Given the description of an element on the screen output the (x, y) to click on. 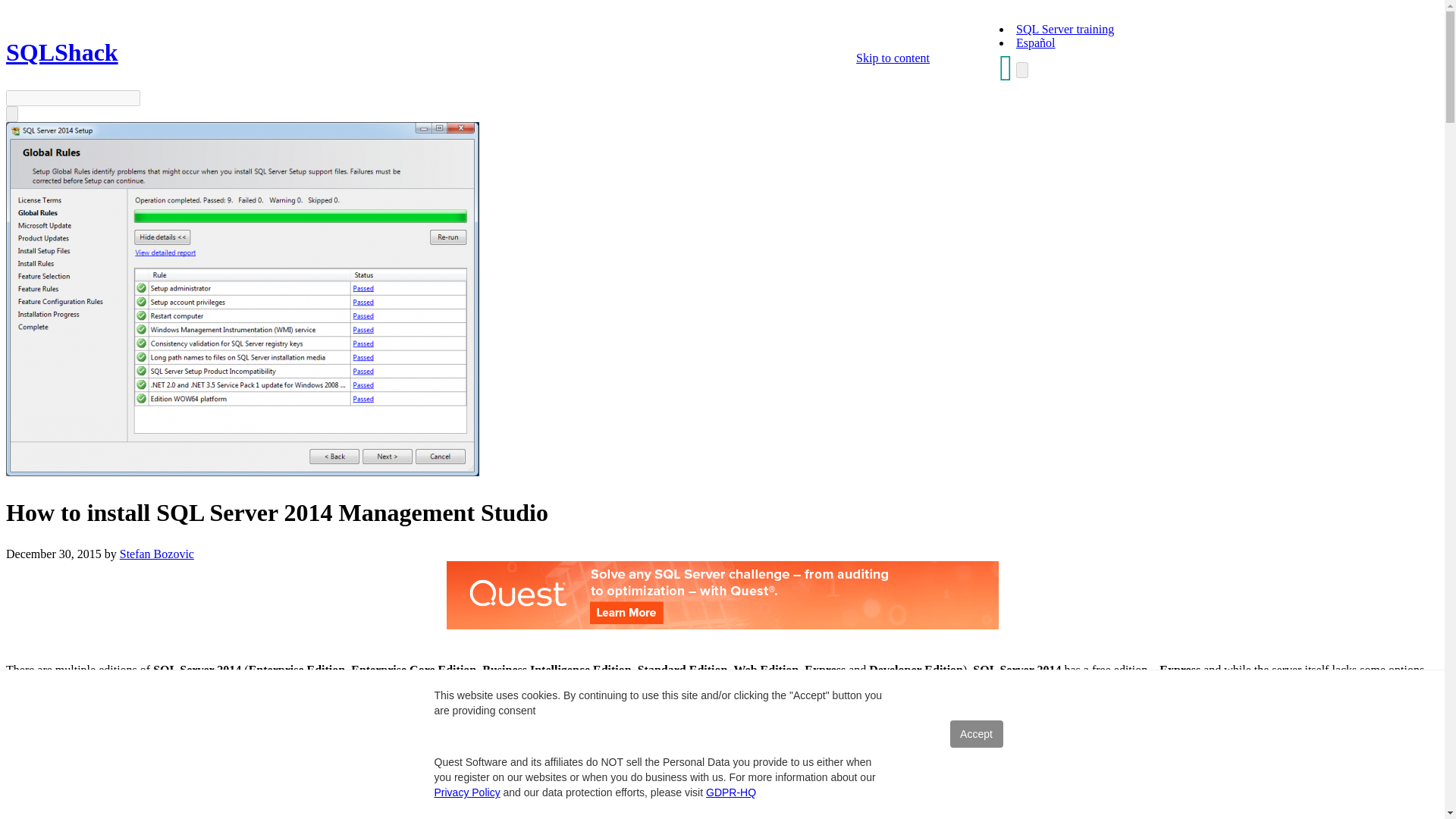
Skip to content (893, 57)
SQLShack (61, 52)
Skip to content (893, 57)
Stefan Bozovic (156, 553)
Accept (976, 733)
Privacy Policy (466, 792)
GDPR-HQ (730, 792)
Accept (976, 733)
this link (344, 754)
SQL Server training (1064, 29)
